Given the description of an element on the screen output the (x, y) to click on. 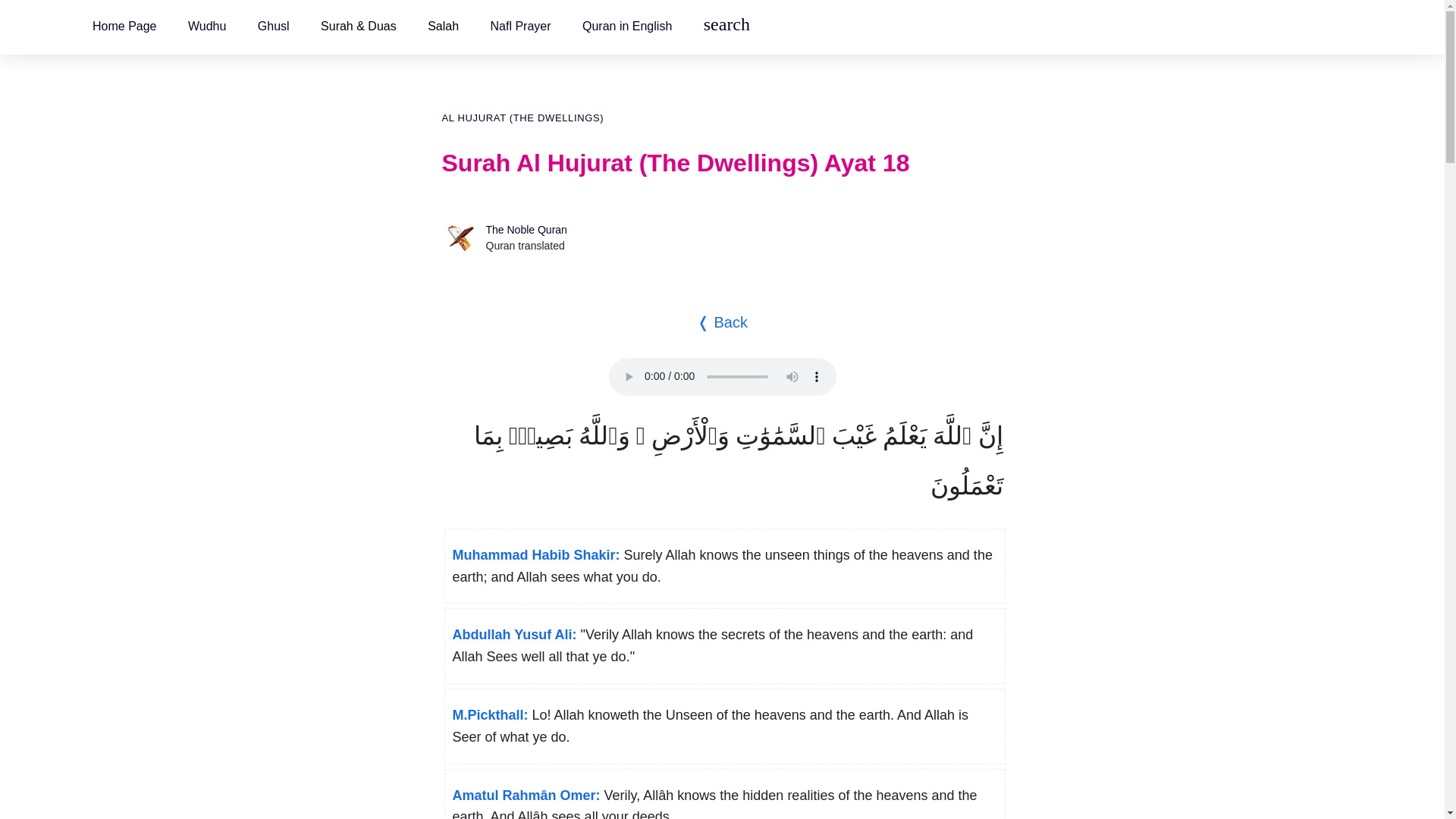
Abdullah Yusuf Ali: (513, 634)
Ghusl (273, 25)
Quran in English (626, 25)
search (726, 25)
Wudhu (206, 25)
Muhammad Habib Shakir: (535, 554)
M.Pickthall: (489, 714)
Nafl Prayer (519, 25)
Home Page (125, 25)
The Noble Quran (525, 229)
